Given the description of an element on the screen output the (x, y) to click on. 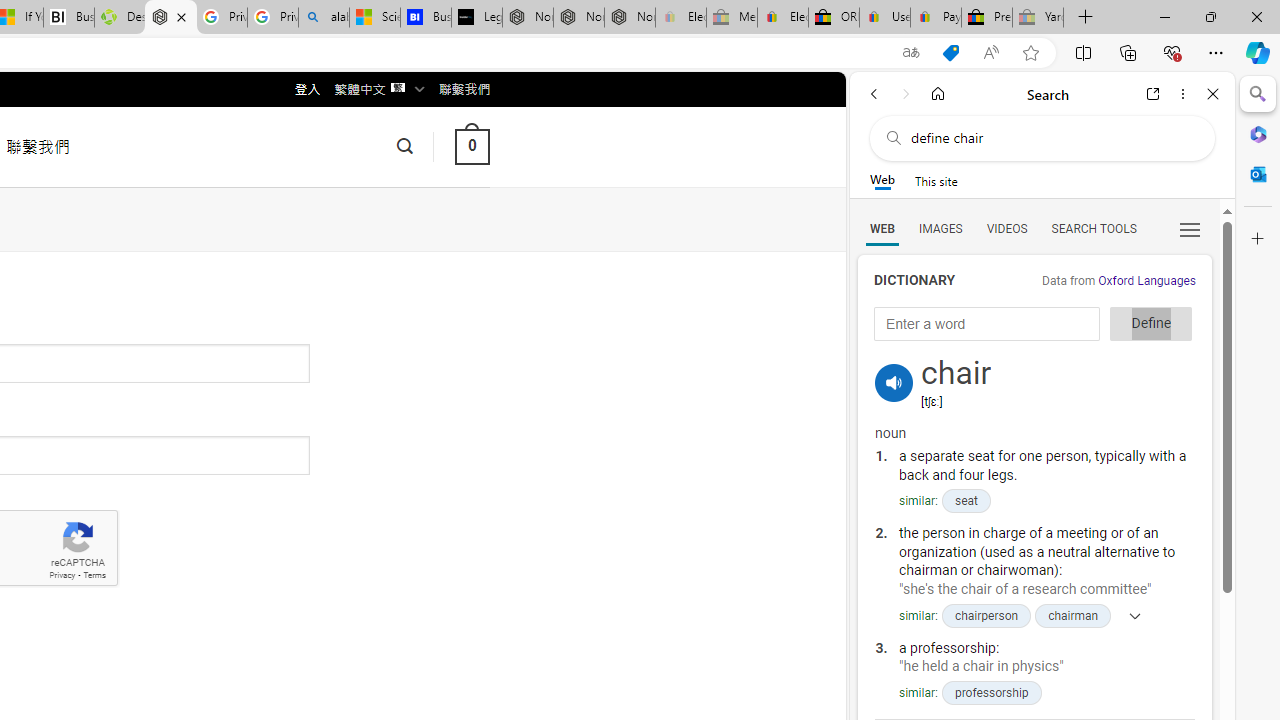
Nordace - My Account (170, 17)
Yard, Garden & Outdoor Living - Sleeping (1037, 17)
User Privacy Notice | eBay (885, 17)
